Given the description of an element on the screen output the (x, y) to click on. 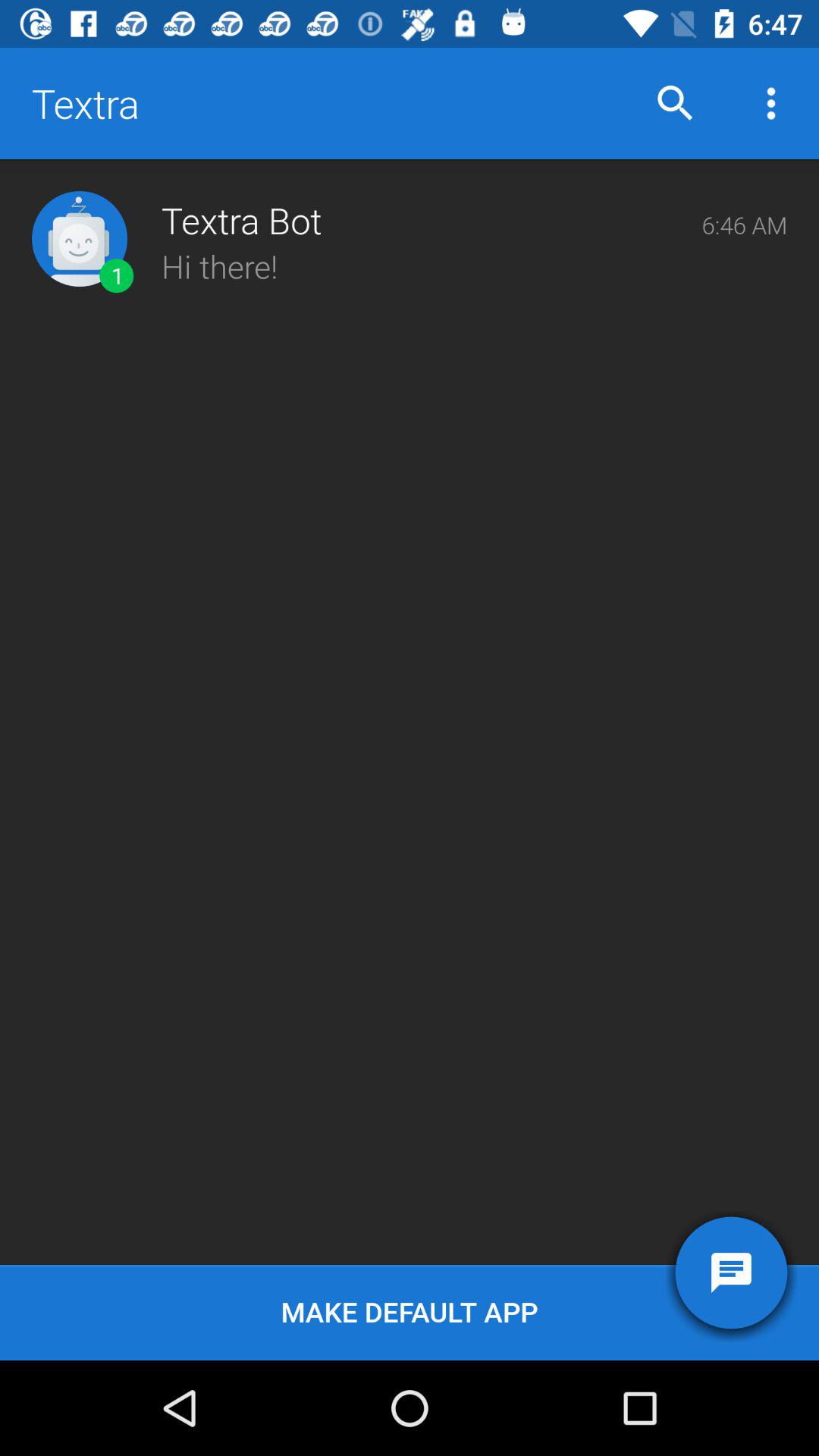
open item to the right of the textra (675, 103)
